Given the description of an element on the screen output the (x, y) to click on. 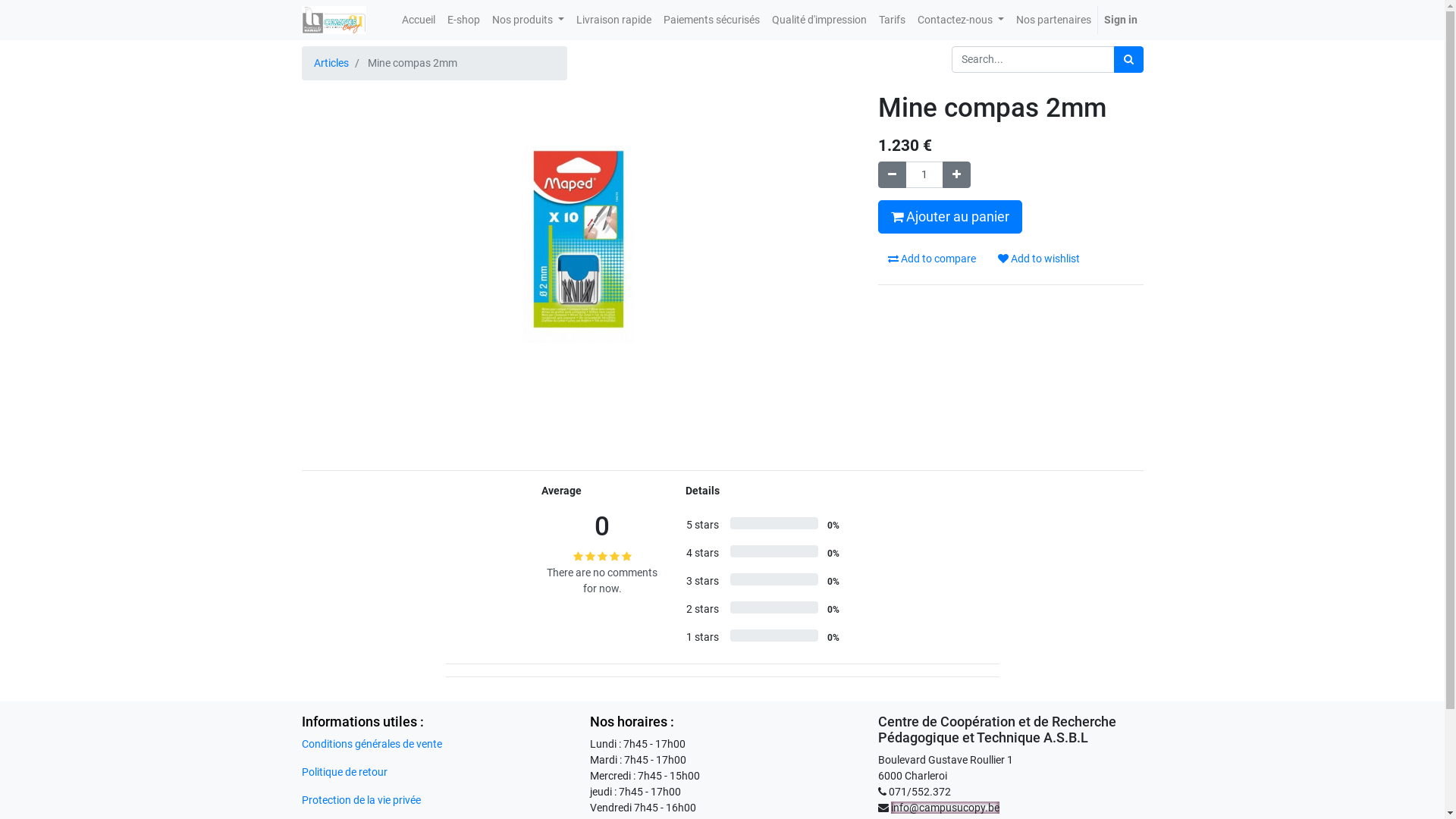
0 stars on 5 Element type: hover (601, 556)
Add one Element type: hover (955, 174)
Accueil Element type: text (418, 20)
Nos produits Element type: text (528, 20)
Articles Element type: text (330, 62)
https://www.campusucopy.be Element type: hover (333, 20)
Contactez-nous Element type: text (960, 20)
Politique de retour Element type: text (344, 771)
Remove one Element type: hover (892, 174)
Add to compare Element type: text (931, 258)
Add to wishlist Element type: text (1037, 258)
E-shop Element type: text (463, 20)
Search Element type: hover (1127, 59)
Sign in Element type: text (1120, 20)
Nos partenaires Element type: text (1053, 20)
Livraison rapide Element type: text (613, 20)
Tarifs Element type: text (891, 20)
Ajouter au panier Element type: text (950, 216)
